Given the description of an element on the screen output the (x, y) to click on. 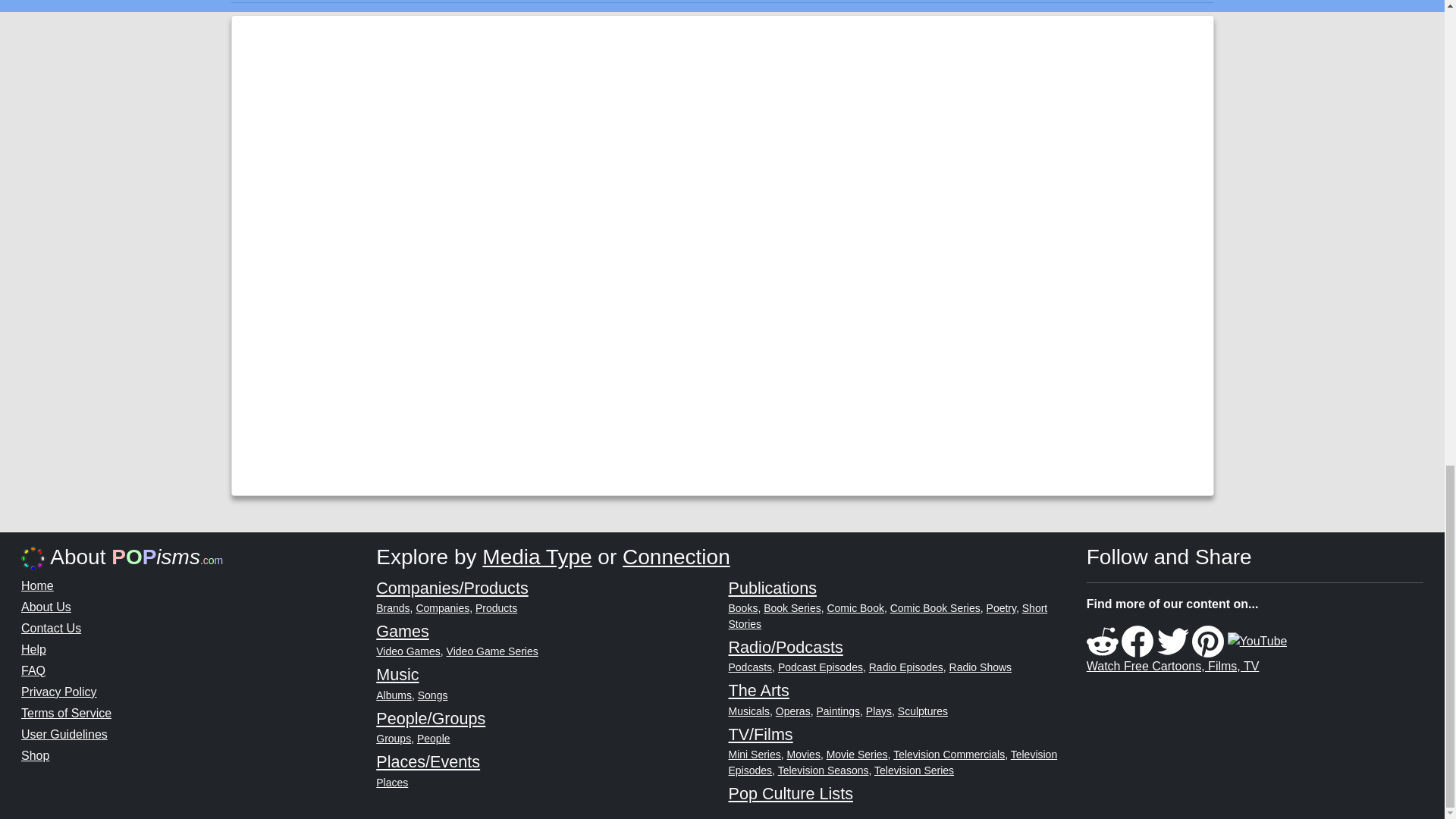
View POPisms content on YouTube (1257, 640)
View POPisms content on Facebook (1137, 640)
View POPisms content on Pinterest (1208, 640)
View POPisms content on Twitter (1173, 640)
Home (37, 585)
View POPisms content on Reddit (1102, 640)
Frequently Asked Questions (33, 670)
